Given the description of an element on the screen output the (x, y) to click on. 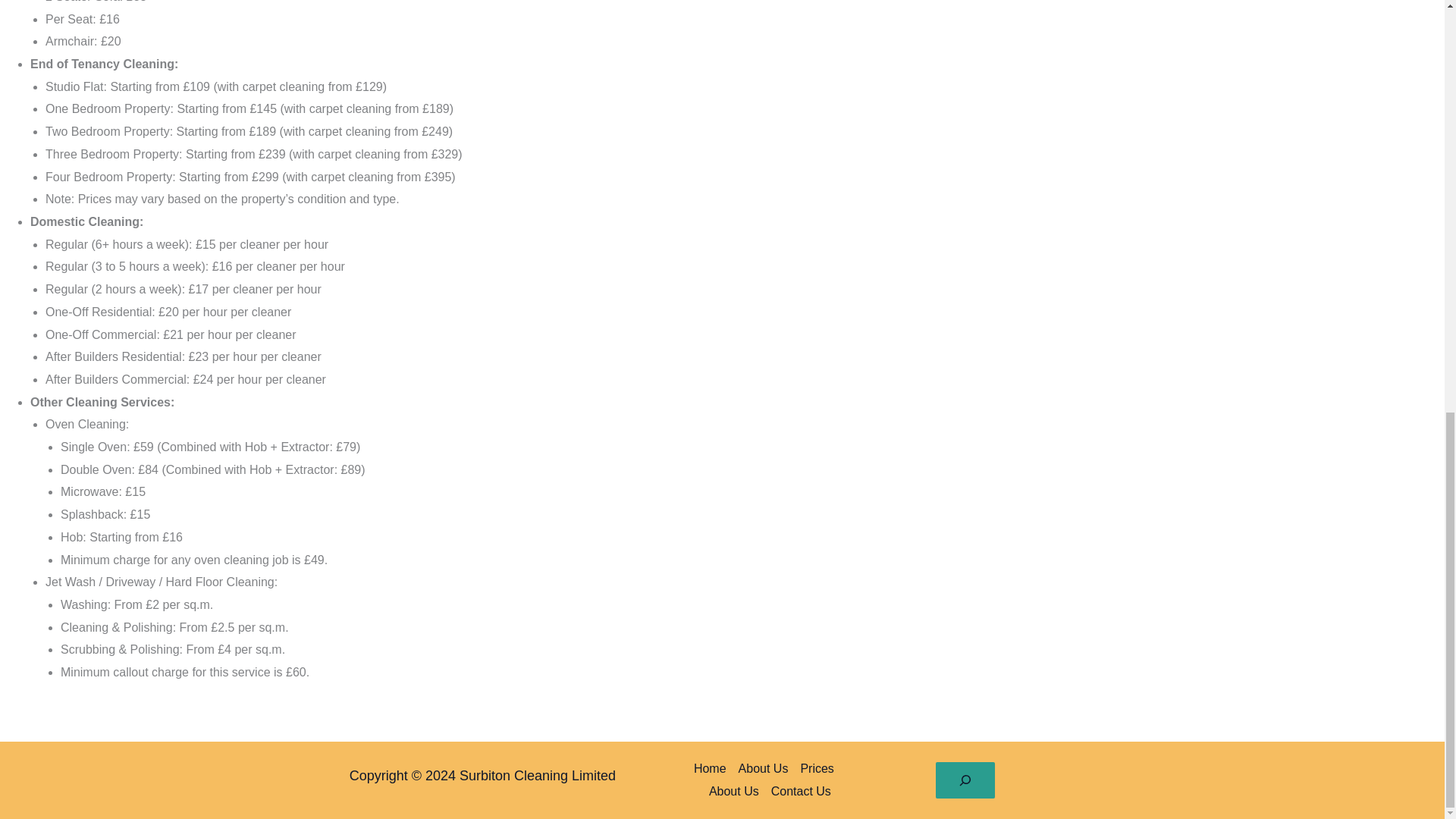
About Us (763, 768)
Home (713, 768)
Prices (816, 768)
